Given the description of an element on the screen output the (x, y) to click on. 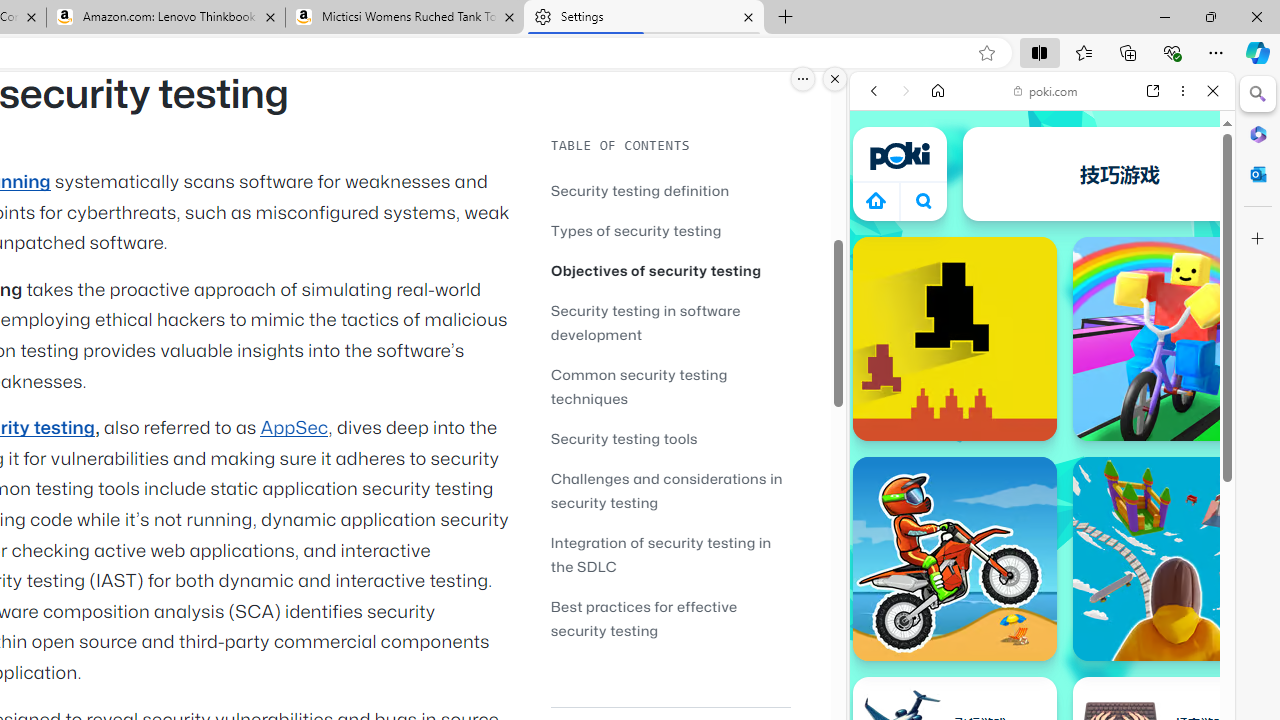
More options. (803, 79)
Integration of security testing in the SDLC (660, 554)
Shooting Games (1042, 519)
Car Games (1042, 470)
Objectives of security testing (655, 270)
poki.com (1046, 90)
Class: B_5ykBA46kDOxiz_R9wm (923, 200)
Sports Games (1042, 665)
